Given the description of an element on the screen output the (x, y) to click on. 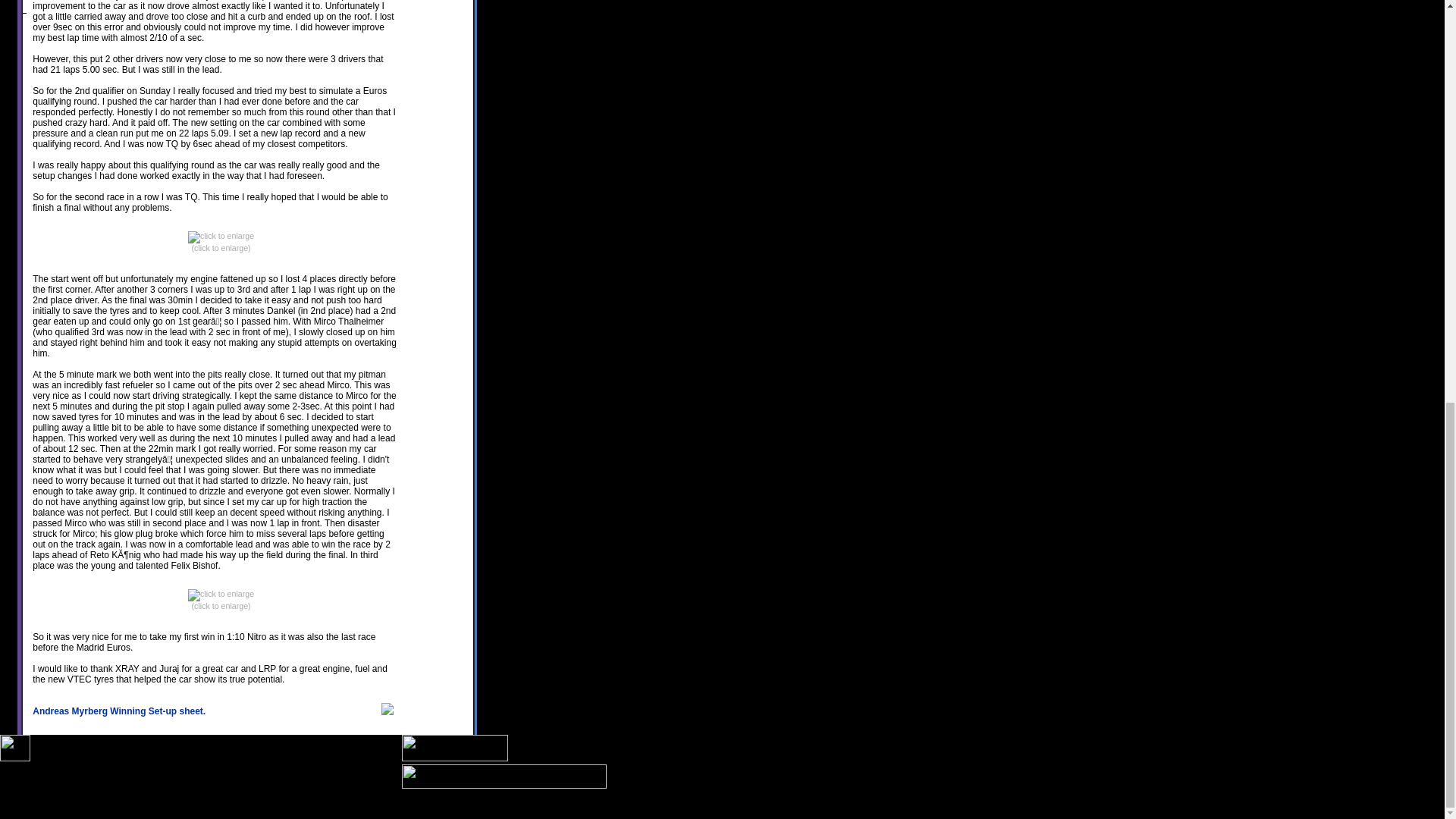
Andreas Myrberg Winning Set-up sheet. (118, 710)
